Given the description of an element on the screen output the (x, y) to click on. 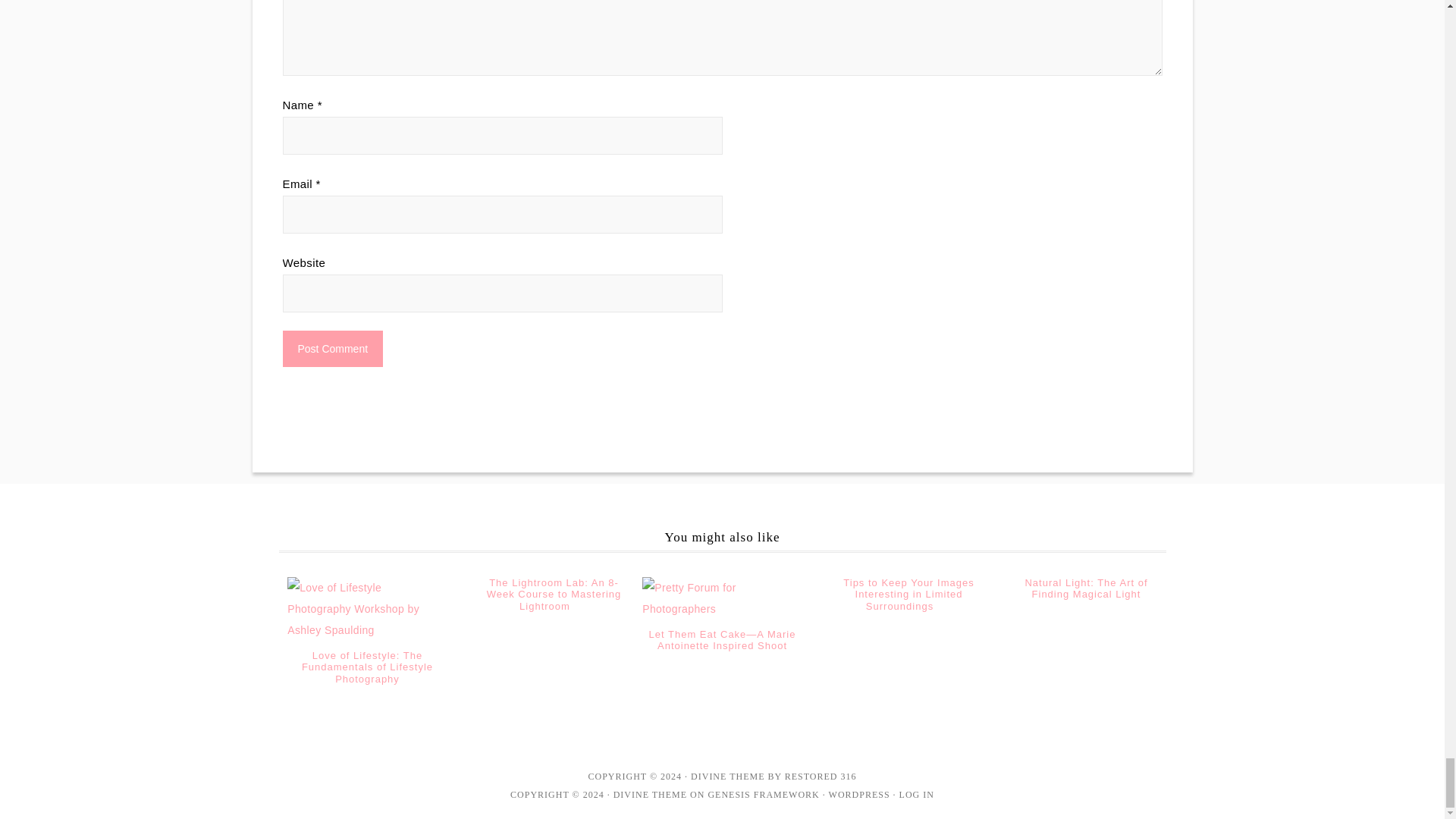
Post Comment (332, 348)
